Given the description of an element on the screen output the (x, y) to click on. 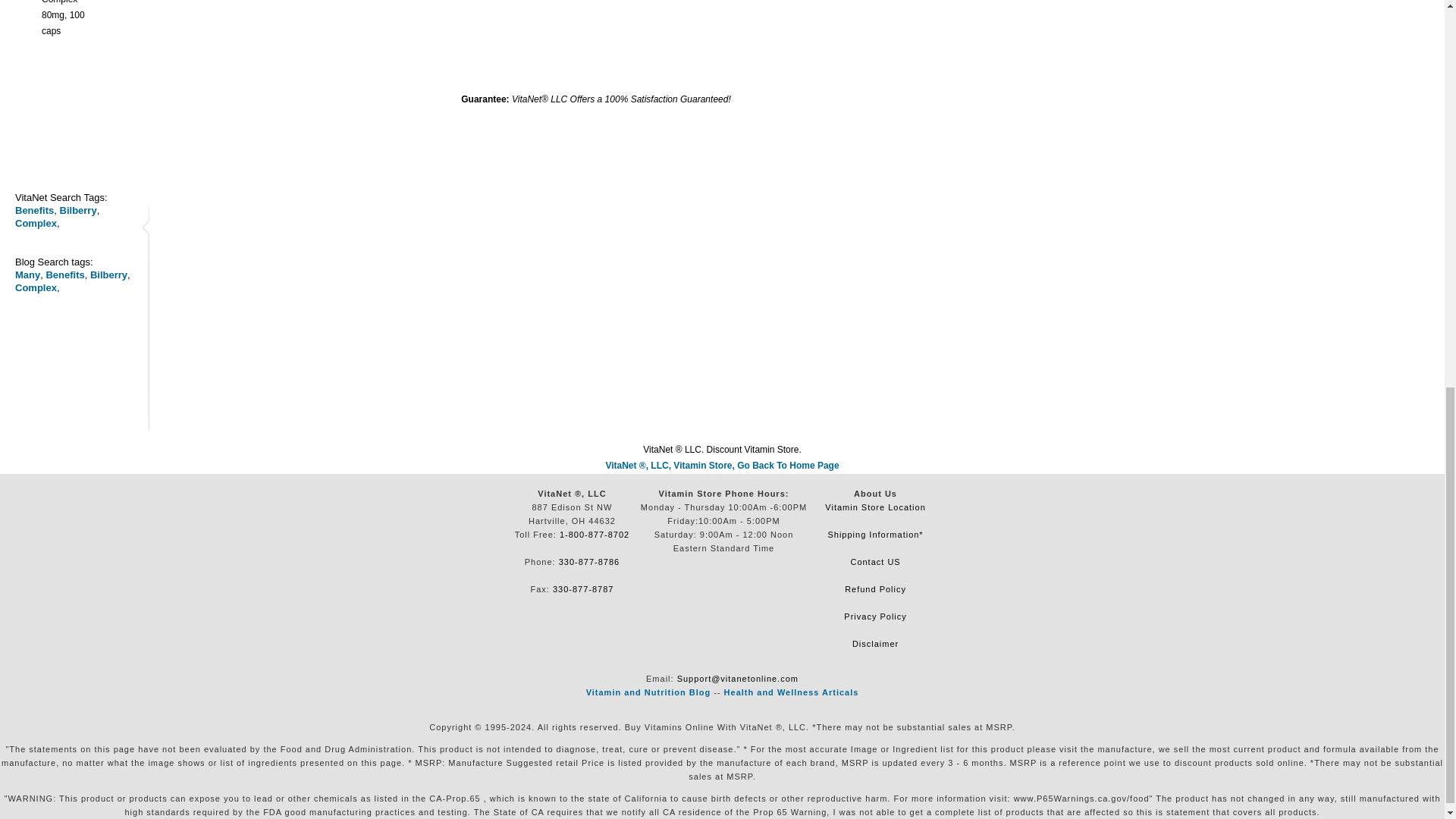
Search for: Benefits (33, 210)
Search for: Bilberry (78, 210)
Search for: Complex (35, 223)
vitanet vitamin store (721, 465)
Search Forums for: Benefits (64, 274)
Search Forums for: Bilberry (109, 274)
Search Forums for: Many (27, 274)
Search Forums for: Complex (35, 287)
